Given the description of an element on the screen output the (x, y) to click on. 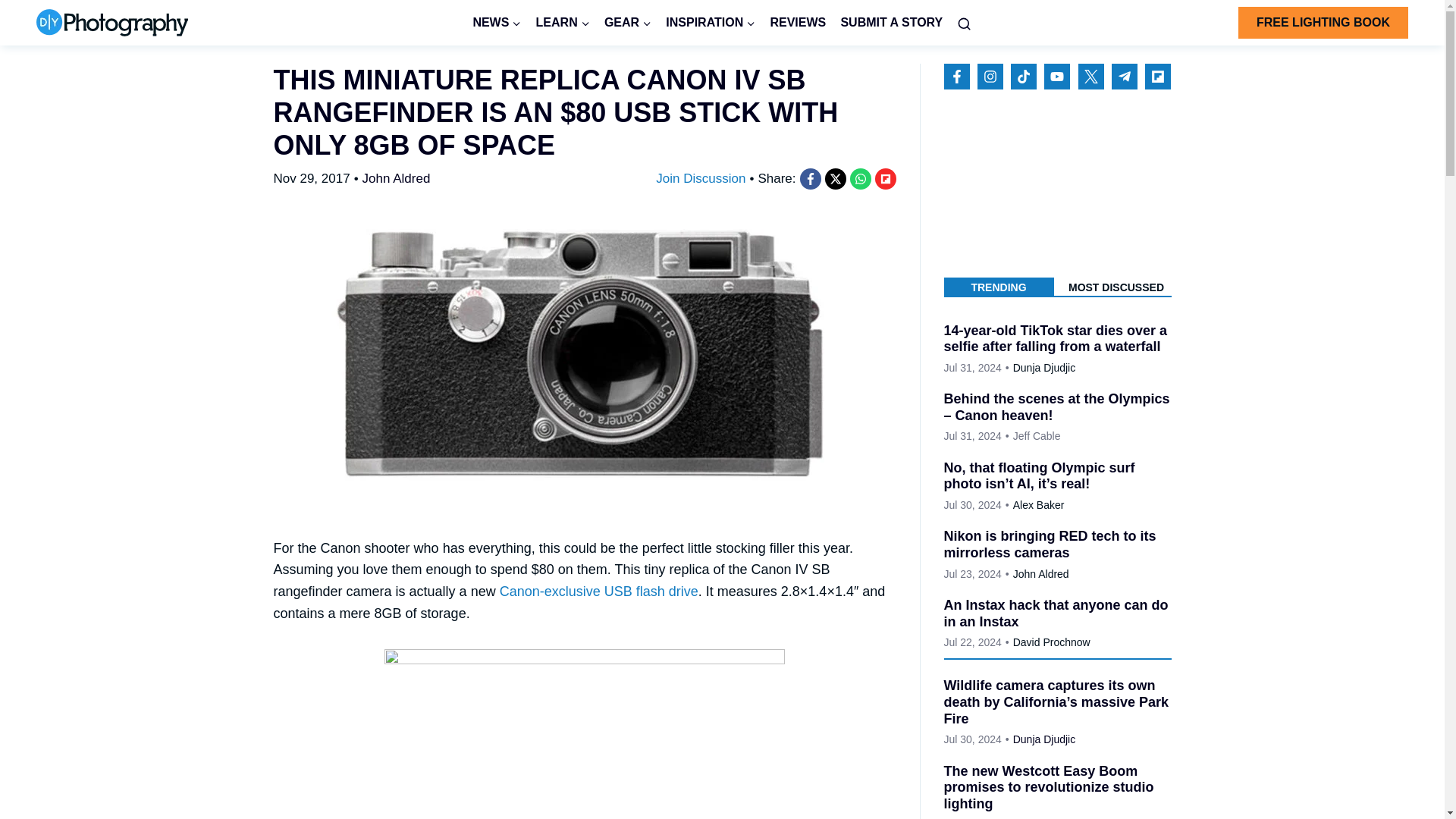
NEWS (496, 22)
